Given the description of an element on the screen output the (x, y) to click on. 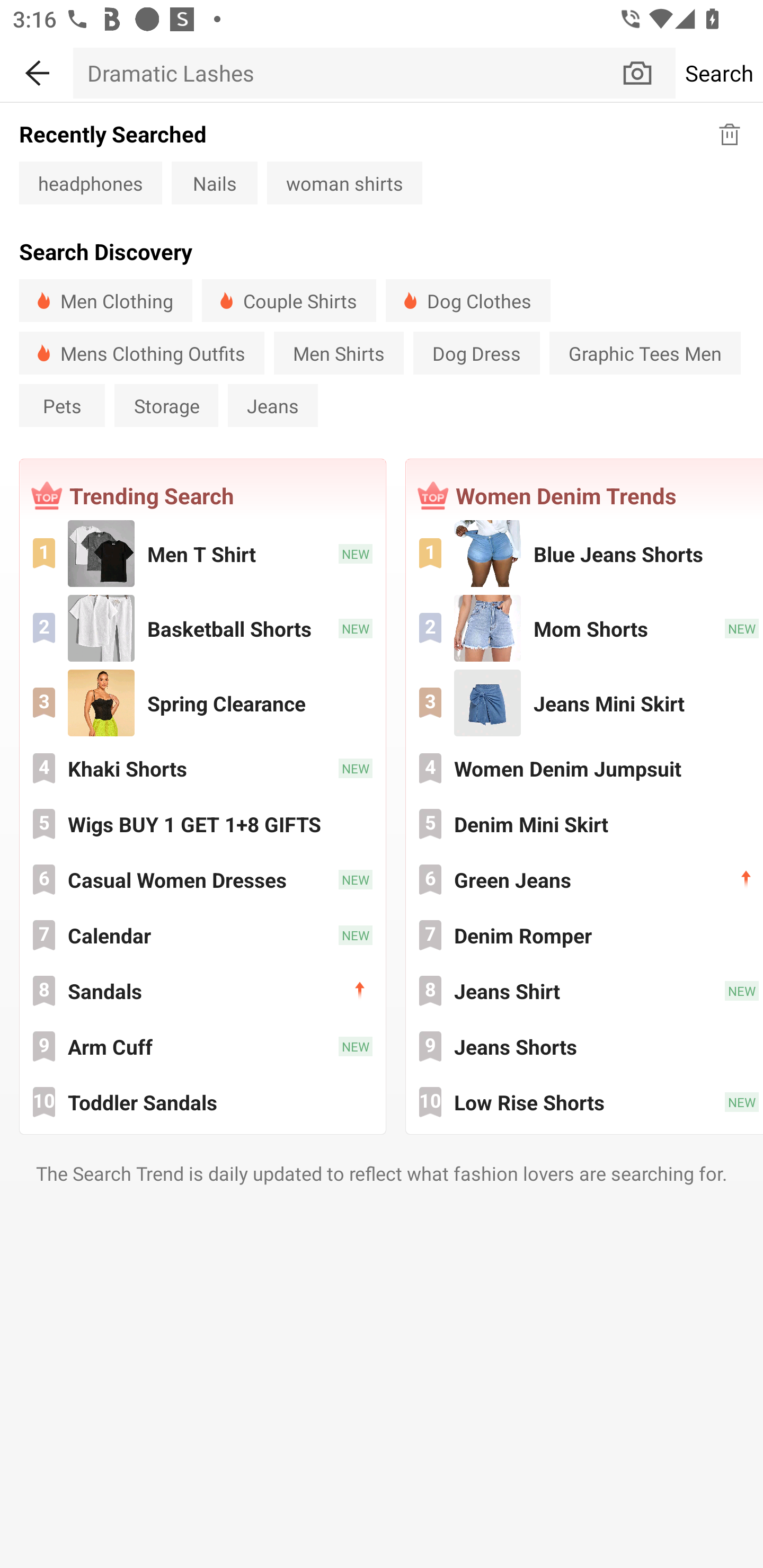
BACK (36, 69)
Dramatic Lashes (346, 72)
Search (719, 72)
headphones (90, 182)
Nails (214, 182)
woman shirts (344, 182)
Men Clothing (105, 300)
Couple Shirts (289, 300)
Dog Clothes (468, 300)
Mens Clothing Outfits (141, 352)
Men Shirts (338, 352)
Dog Dress (476, 352)
Graphic Tees Men (644, 352)
Pets (62, 405)
Storage (166, 405)
Jeans (273, 405)
Men T Shirt 1 Men T Shirt NEW (202, 553)
Blue Jeans Shorts 1 Blue Jeans Shorts (584, 553)
Basketball Shorts 2 Basketball Shorts NEW (202, 627)
Mom Shorts 2 Mom Shorts NEW (584, 627)
Spring Clearance 3 Spring Clearance (202, 702)
Jeans Mini Skirt 3 Jeans Mini Skirt (584, 702)
Khaki Shorts 4 Khaki Shorts NEW (202, 767)
Women Denim Jumpsuit 4 Women Denim Jumpsuit (584, 767)
Denim Mini Skirt 5 Denim Mini Skirt (584, 823)
Casual Women Dresses 6 Casual Women Dresses NEW (202, 879)
Green Jeans 6 Green Jeans (584, 879)
Calendar 7 Calendar NEW (202, 934)
Denim Romper 7 Denim Romper (584, 934)
Sandals 8 Sandals (202, 990)
Jeans Shirt 8 Jeans Shirt NEW (584, 990)
Arm Cuff 9 Arm Cuff NEW (202, 1045)
Jeans Shorts 9 Jeans Shorts (584, 1045)
Toddler Sandals 10 Toddler Sandals (202, 1101)
Low Rise Shorts 10 Low Rise Shorts NEW (584, 1101)
